Given the description of an element on the screen output the (x, y) to click on. 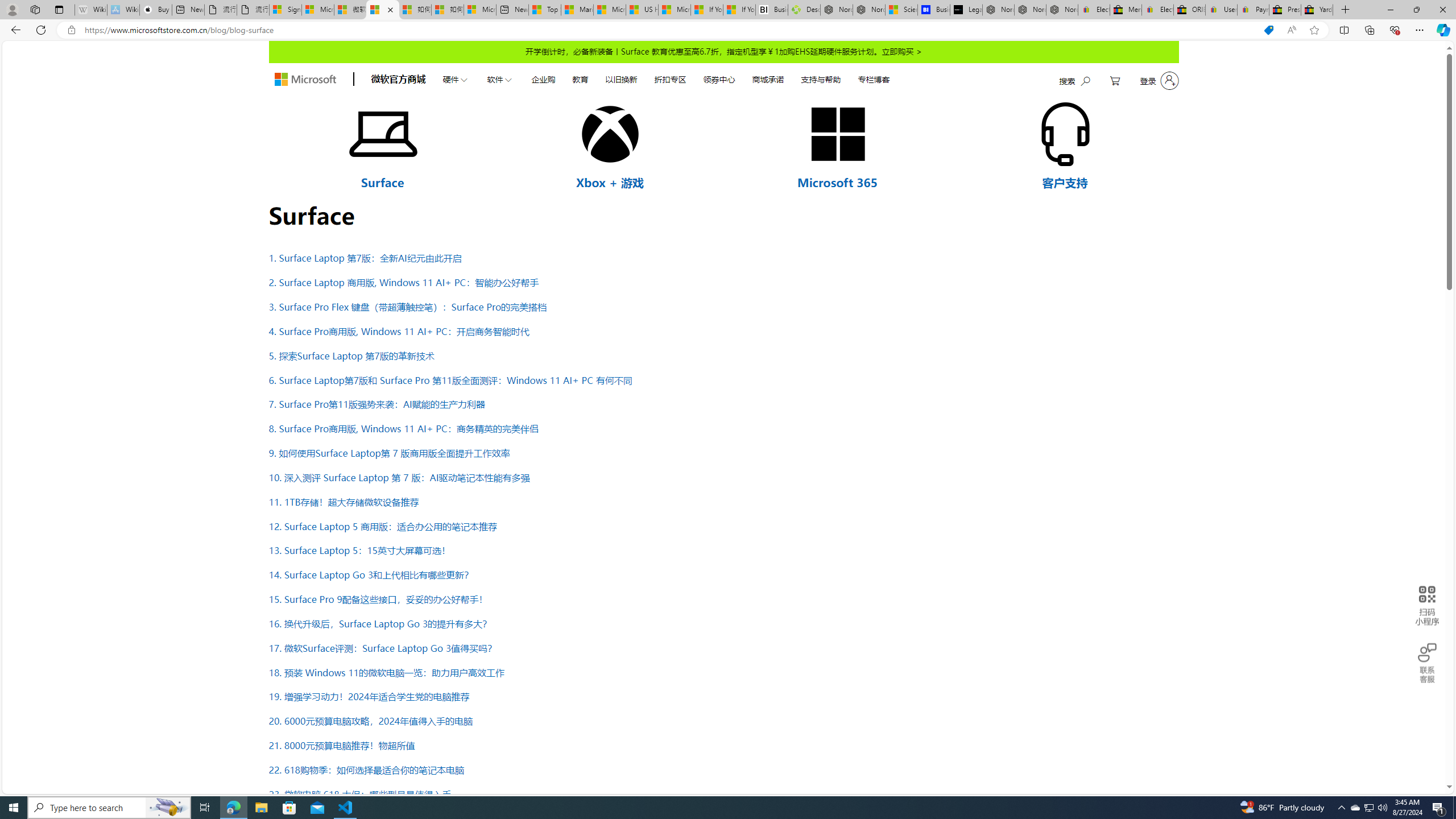
AutomationID: autoNav (665, 78)
